Given the description of an element on the screen output the (x, y) to click on. 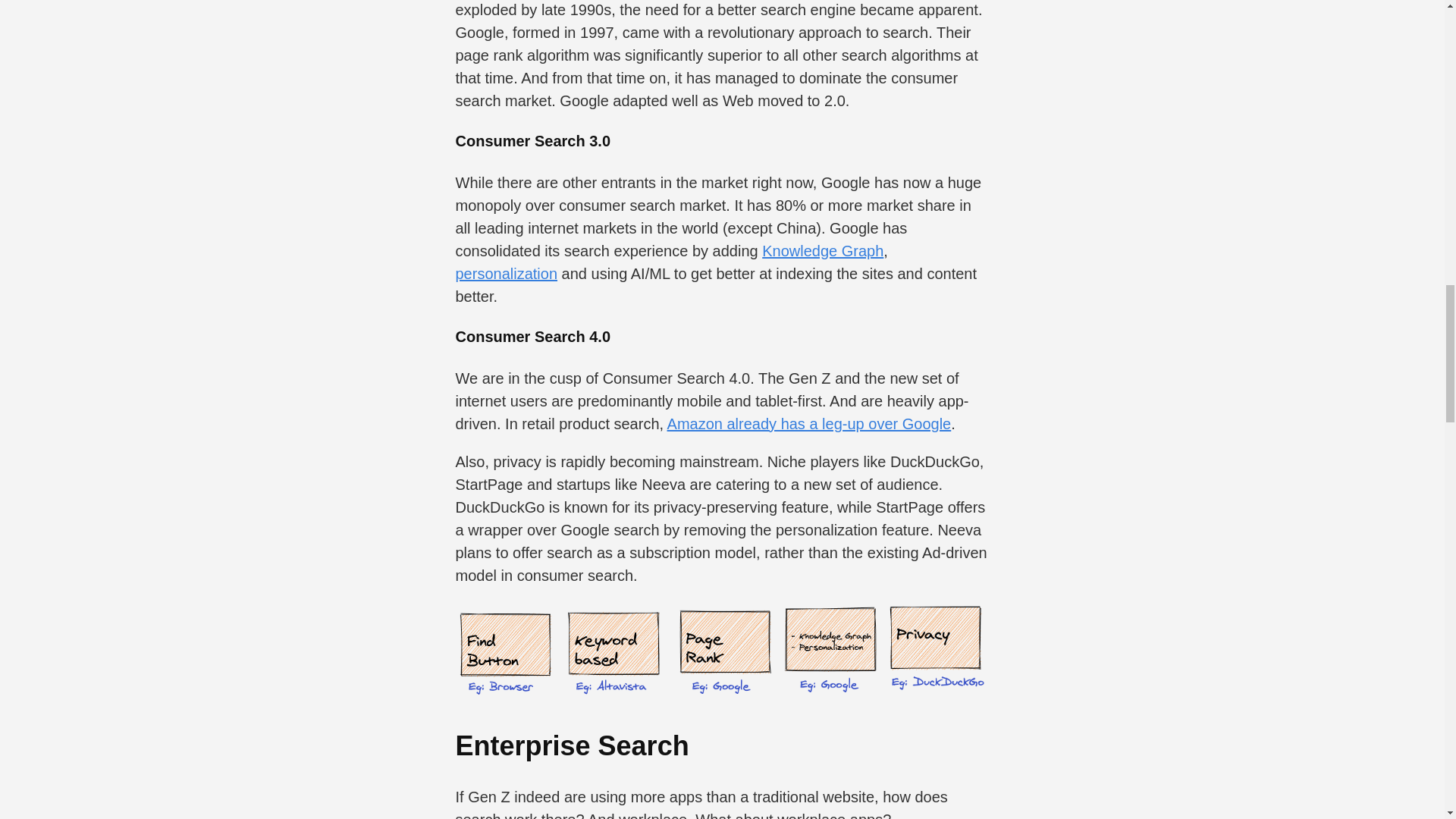
personalization (505, 273)
Knowledge Graph (822, 250)
Amazon already has a leg-up over Google (809, 423)
